Given the description of an element on the screen output the (x, y) to click on. 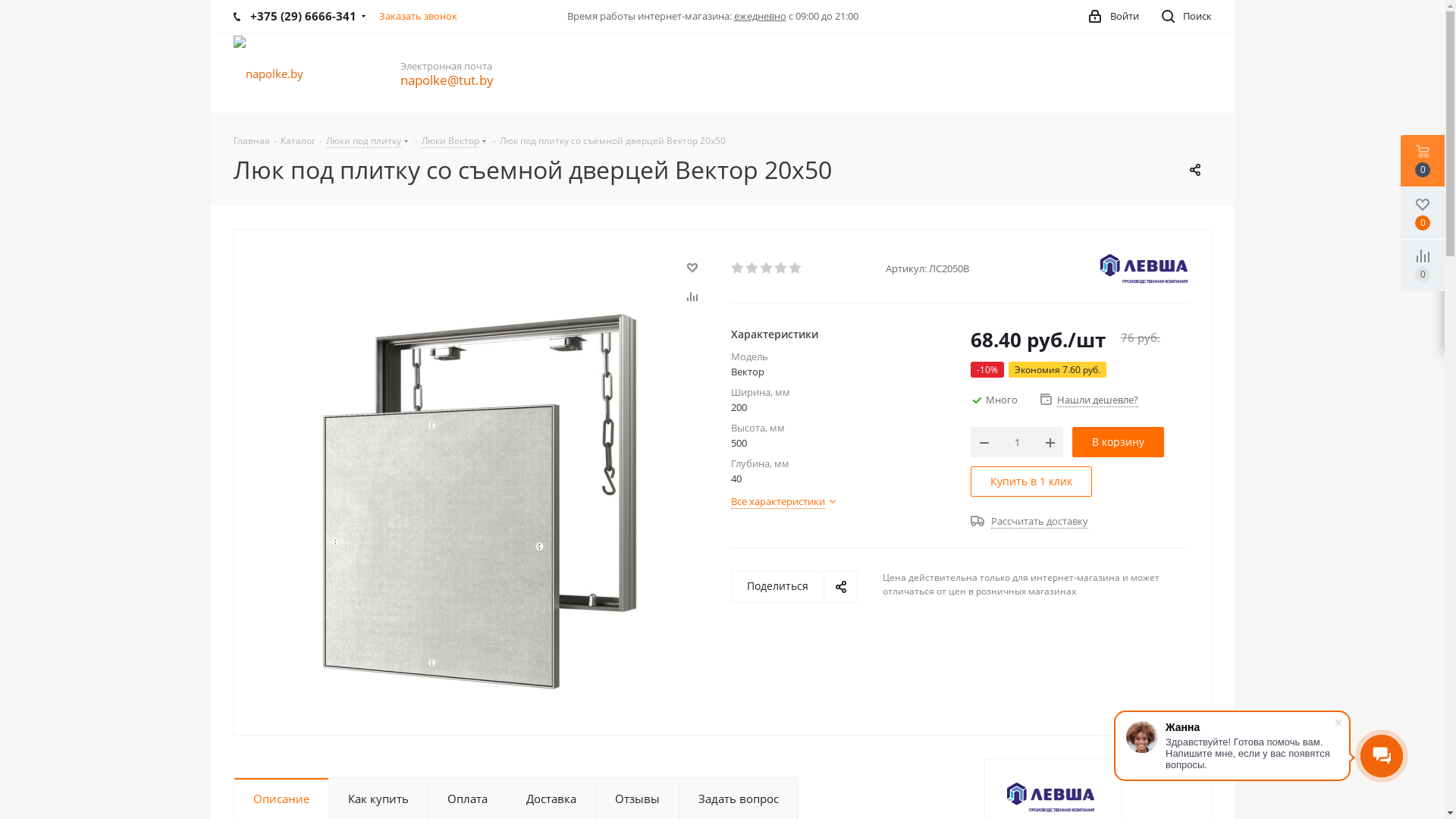
1 Element type: hover (738, 268)
5 Element type: hover (795, 268)
3 Element type: hover (766, 268)
napolke@tut.by Element type: text (446, 80)
napolke.by Element type: hover (268, 72)
4 Element type: hover (780, 268)
2 Element type: hover (751, 268)
